Given the description of an element on the screen output the (x, y) to click on. 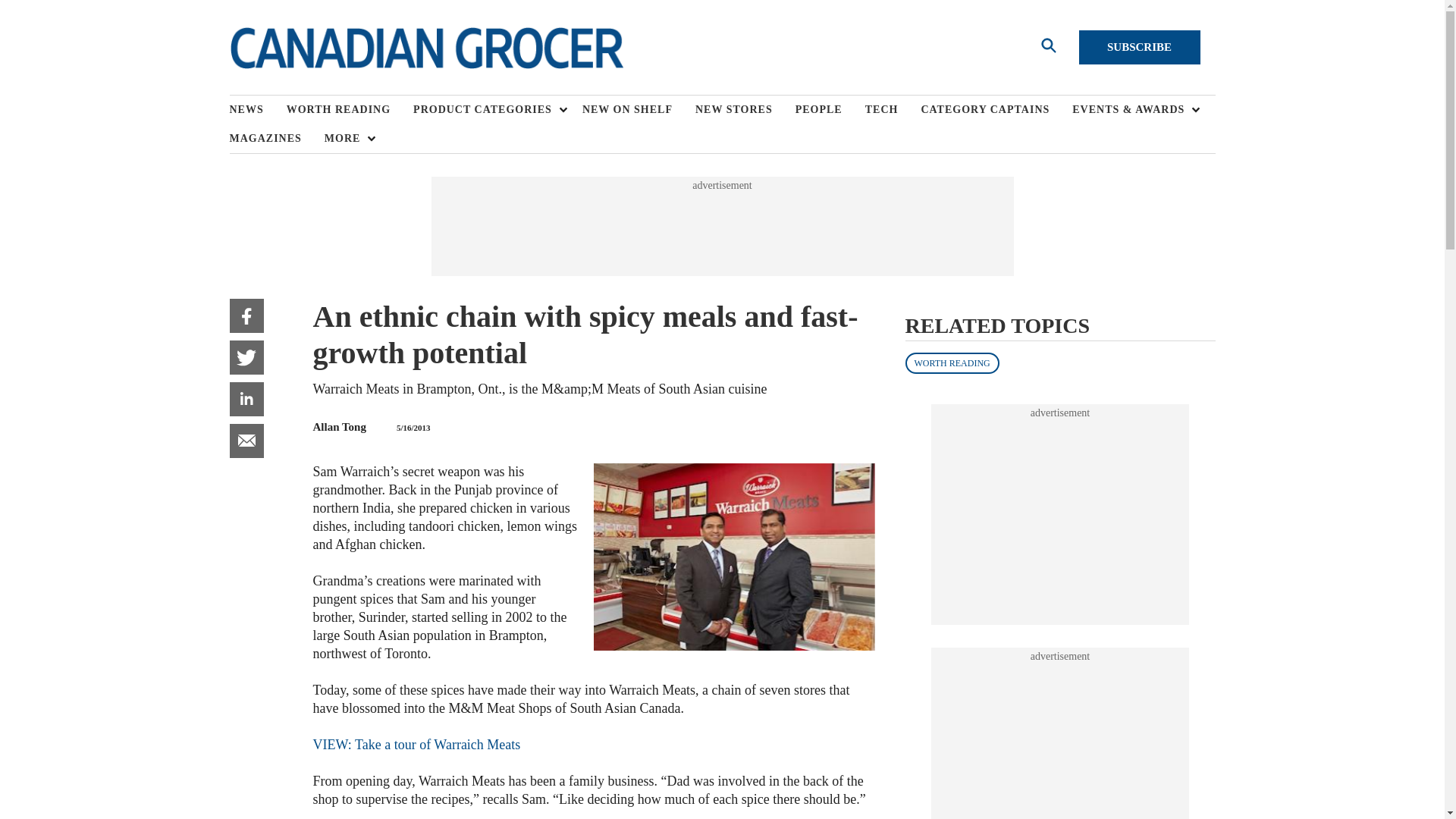
email (245, 440)
twitter (245, 357)
email (245, 440)
3rd party ad content (1059, 514)
MAGAZINES (275, 138)
NEW STORES (744, 109)
facebook (245, 315)
facebook (245, 315)
MORE (346, 138)
3rd party ad content (1059, 741)
twitter (245, 357)
linkedIn (245, 399)
SUBSCRIBE (1138, 47)
CATEGORY CAPTAINS (995, 109)
PEOPLE (829, 109)
